Given the description of an element on the screen output the (x, y) to click on. 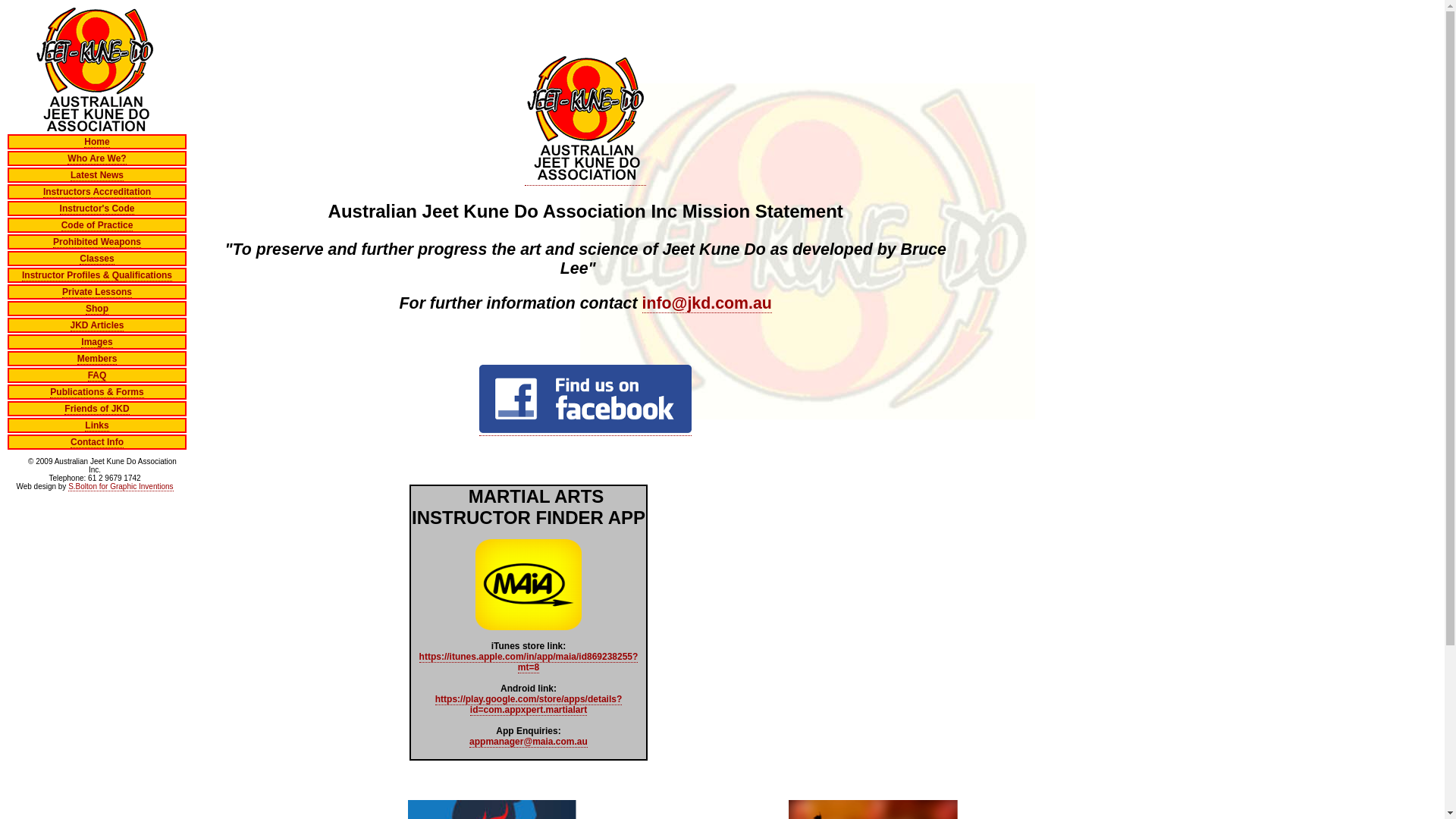
Links Element type: text (96, 425)
Home Element type: text (96, 141)
Who Are We? Element type: text (96, 158)
S.Bolton for Graphic Inventions Element type: text (120, 486)
info@jkd.com.au Element type: text (706, 303)
Friends of JKD Element type: text (96, 408)
Members Element type: text (97, 358)
Latest News Element type: text (96, 175)
Images Element type: text (96, 342)
Instructor's Code Element type: text (96, 208)
Classes Element type: text (96, 258)
Publications & Forms Element type: text (96, 392)
https://itunes.apple.com/in/app/maia/id869238255?mt=8 Element type: text (528, 662)
Instructor Profiles & Qualifications Element type: text (96, 275)
JKD Articles Element type: text (97, 325)
Shop Element type: text (96, 308)
Contact Info Element type: text (96, 442)
FAQ Element type: text (96, 375)
Private Lessons Element type: text (96, 292)
appmanager@maia.com.au Element type: text (528, 741)
Prohibited Weapons Element type: text (97, 241)
Instructors Accreditation Element type: text (96, 191)
Code of Practice Element type: text (97, 225)
